Given the description of an element on the screen output the (x, y) to click on. 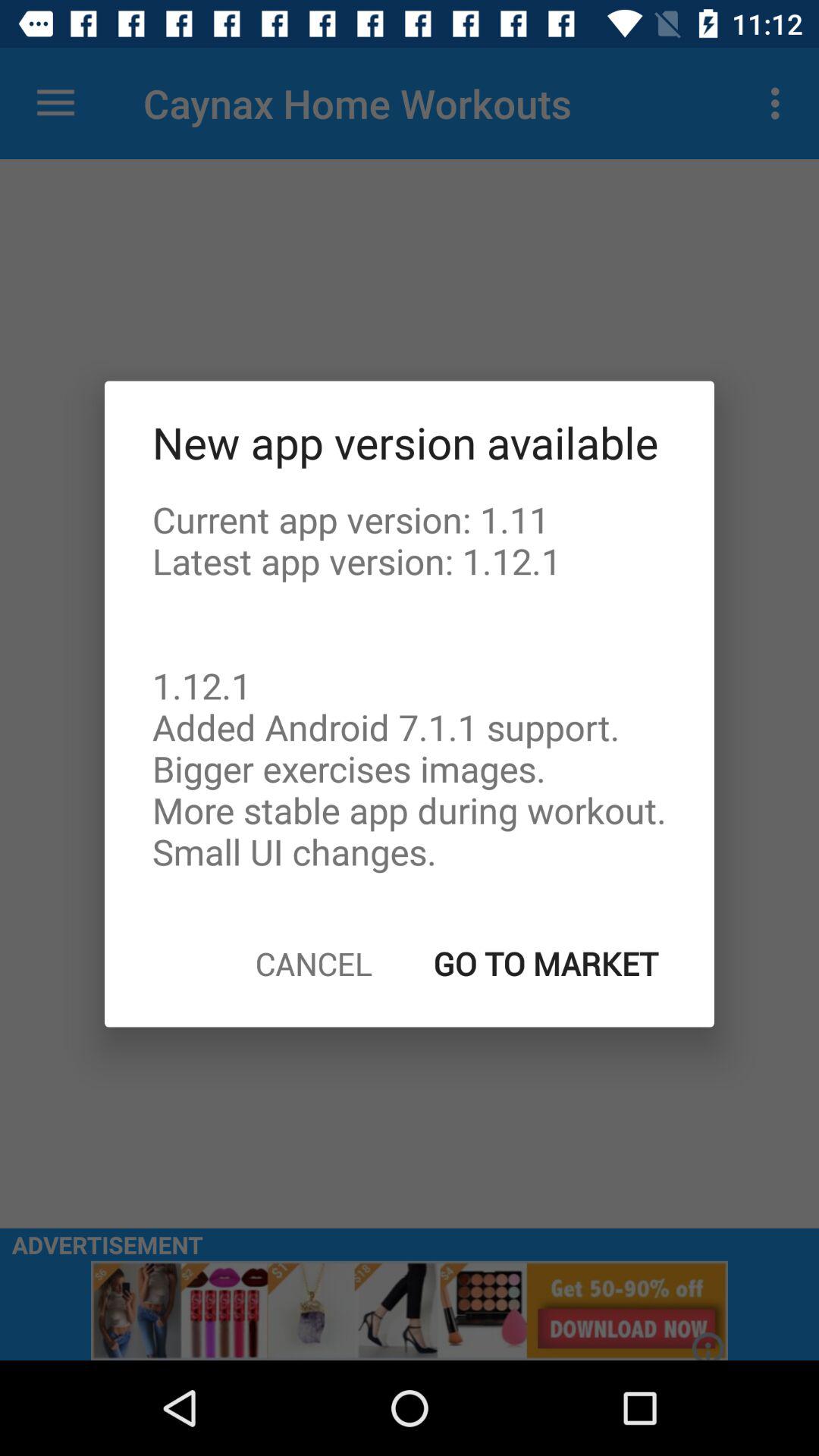
jump to the cancel item (313, 963)
